Given the description of an element on the screen output the (x, y) to click on. 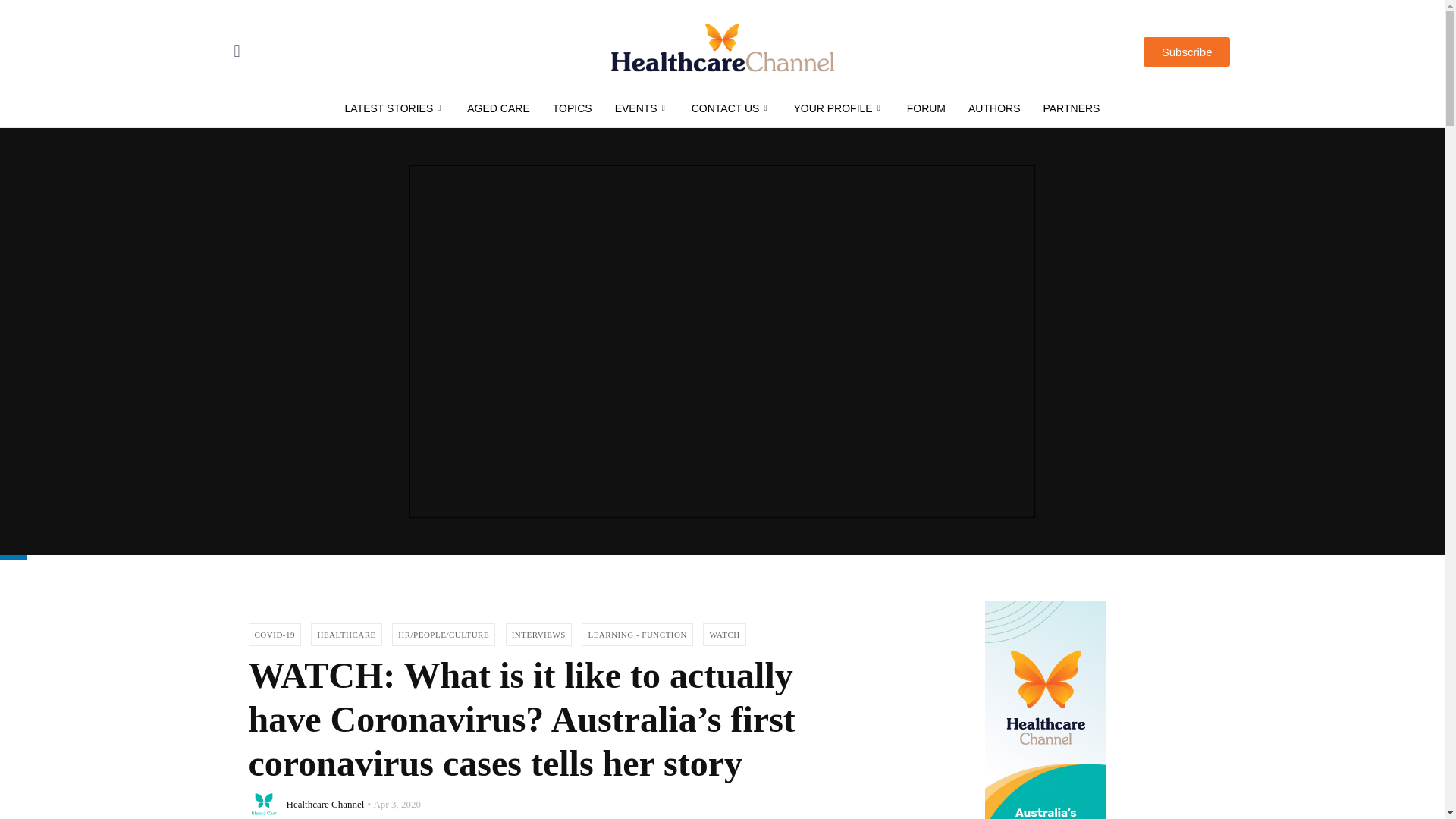
Subscribe (1186, 51)
LATEST STORIES (395, 108)
545 (572, 108)
